Given the description of an element on the screen output the (x, y) to click on. 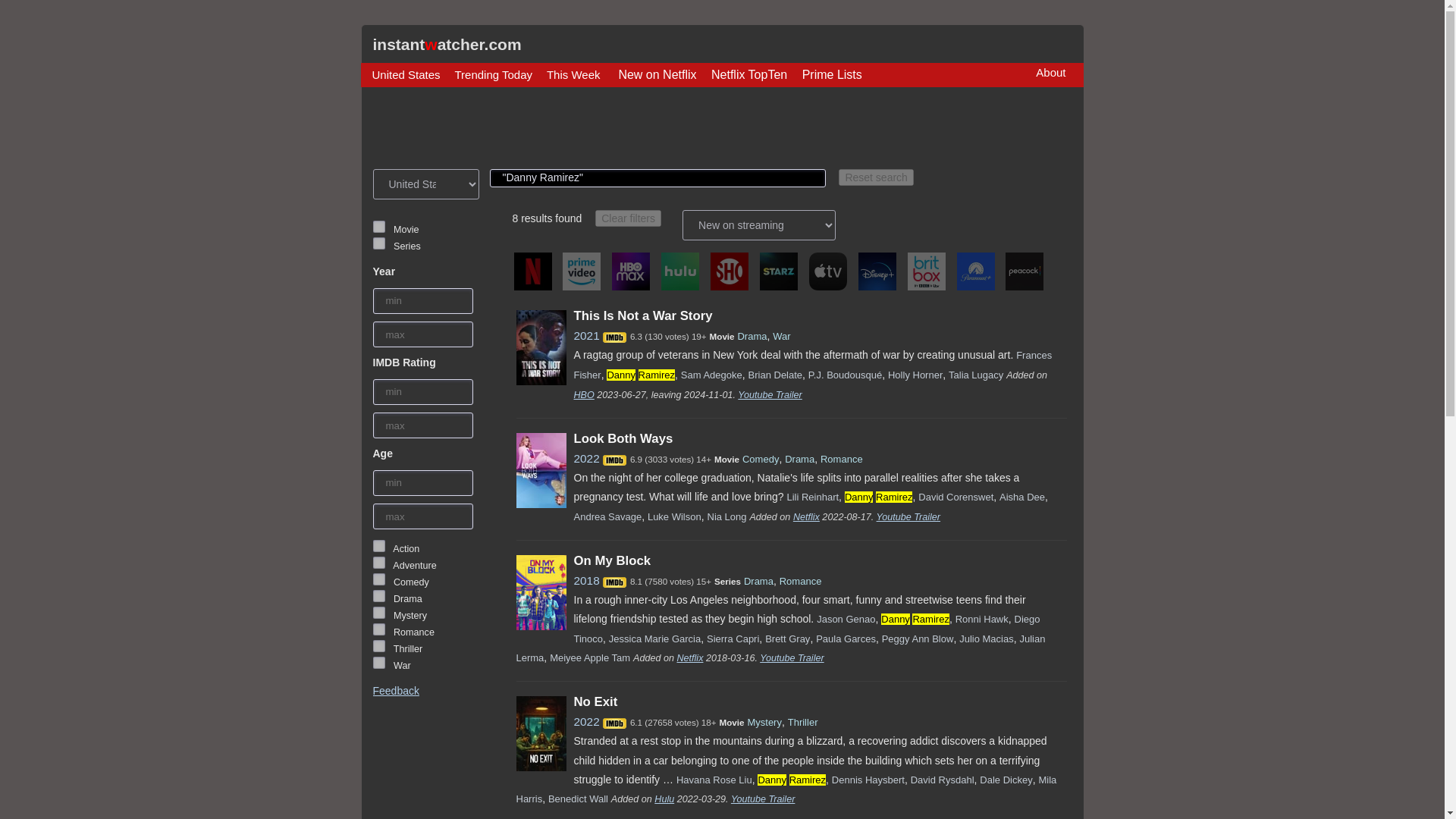
2022 (585, 458)
Talia Lugacy (976, 374)
Netflix TopTen (748, 74)
This Is Not a War Story (642, 315)
Drama (378, 595)
Look Both Ways (622, 438)
This Week (573, 74)
instantwatcher.com (446, 43)
Sam Adegoke (711, 374)
About (1050, 72)
